Given the description of an element on the screen output the (x, y) to click on. 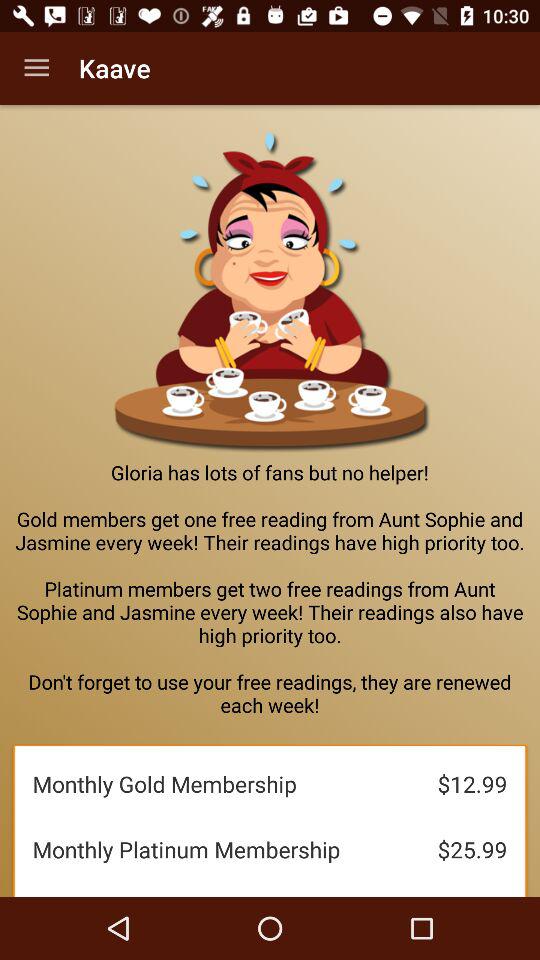
tap the app next to kaave app (36, 68)
